Given the description of an element on the screen output the (x, y) to click on. 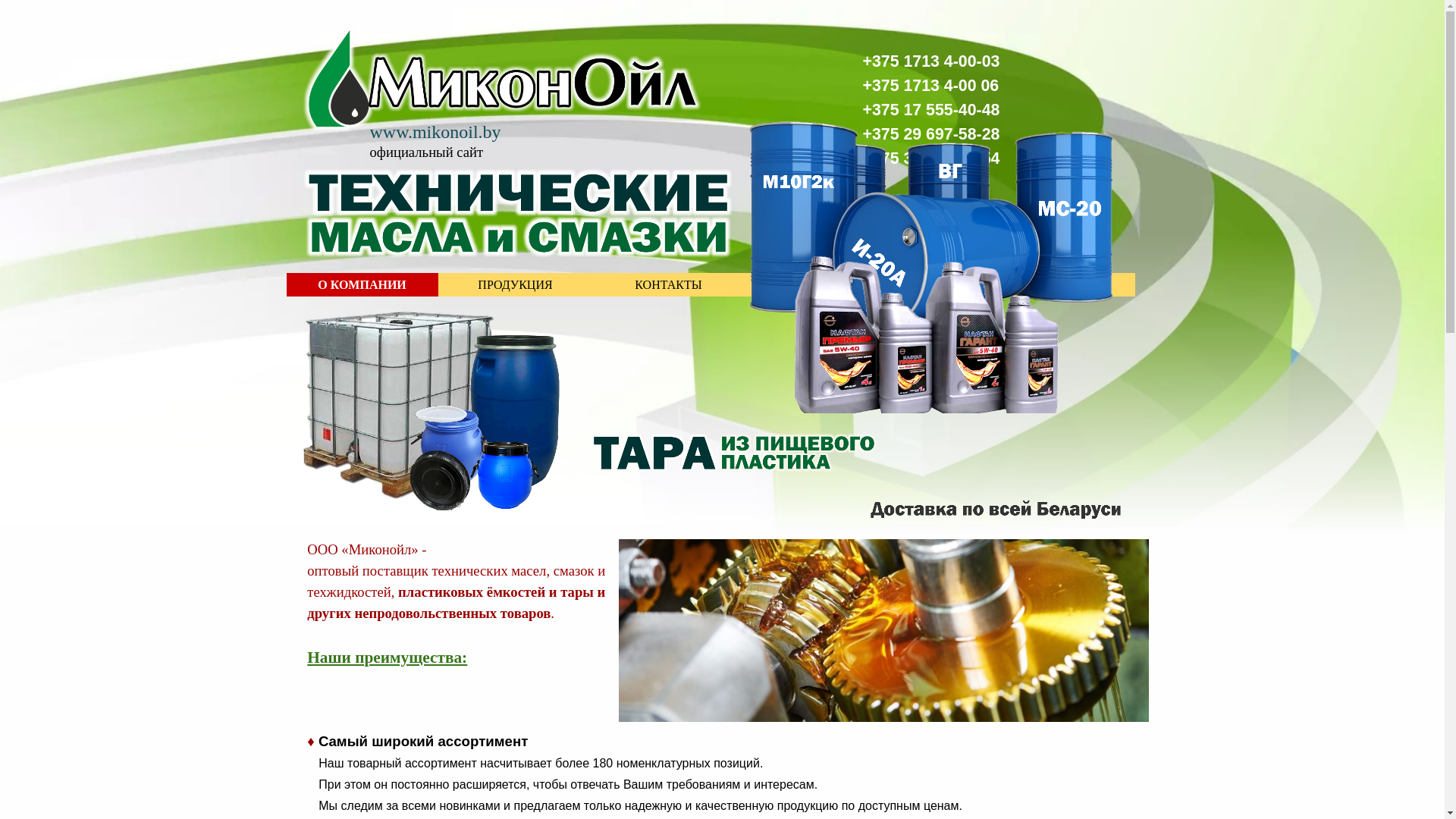
www.mikonoil.by Element type: text (435, 131)
